Given the description of an element on the screen output the (x, y) to click on. 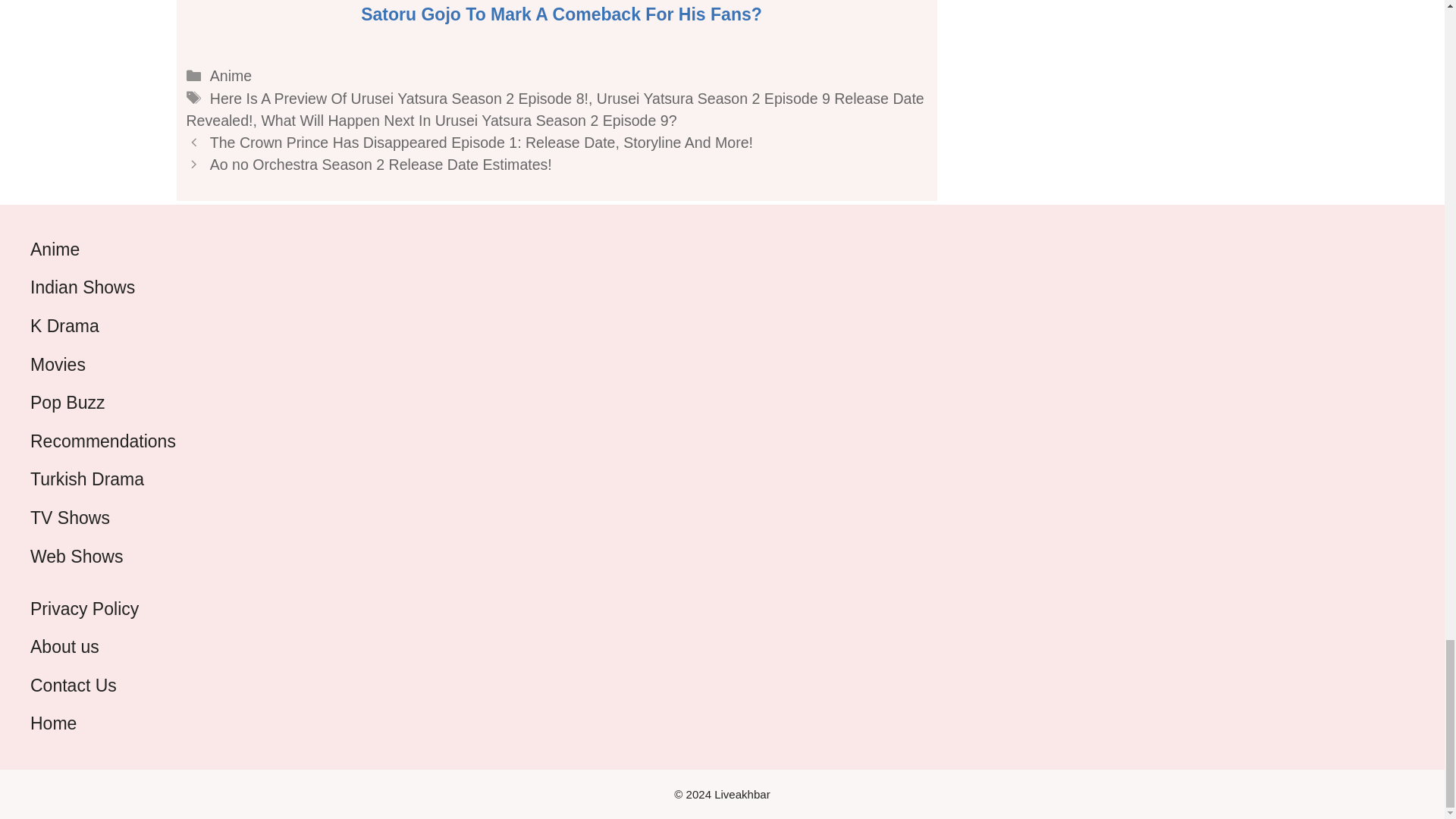
Urusei Yatsura Season 2 Episode 9 Release Date Revealed! (555, 109)
Ao no Orchestra Season 2 Release Date Estimates!  (382, 164)
Here Is A Preview Of Urusei Yatsura Season 2 Episode 8! (398, 98)
Anime (230, 75)
What Will Happen Next In Urusei Yatsura Season 2 Episode 9? (468, 120)
